Given the description of an element on the screen output the (x, y) to click on. 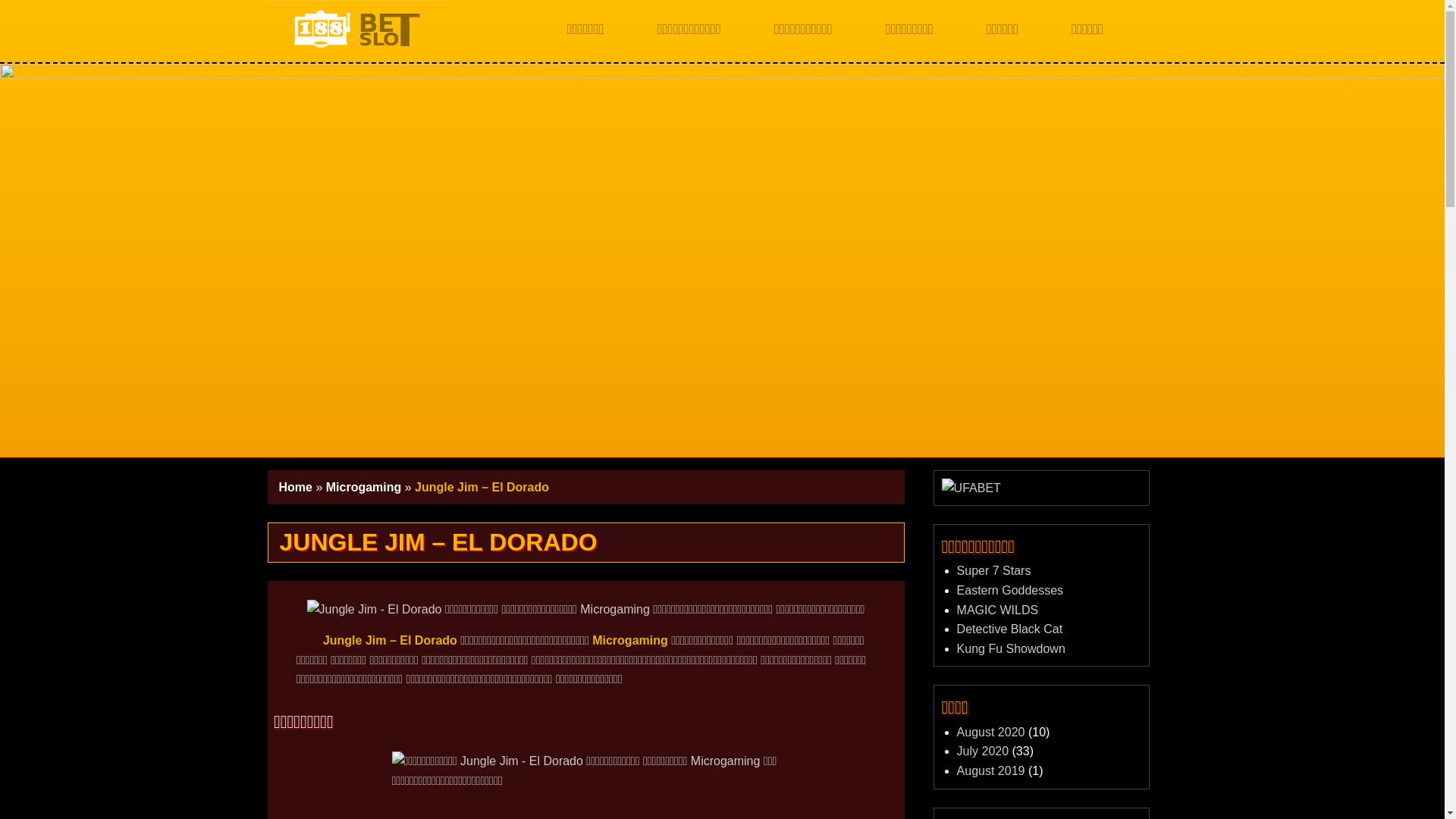
August 2019 Element type: text (991, 770)
Microgaming Element type: text (630, 639)
Home Element type: text (295, 486)
August 2020 Element type: text (991, 731)
MAGIC WILDS Element type: text (997, 609)
Super 7 Stars Element type: text (994, 570)
Eastern Goddesses Element type: text (1010, 589)
July 2020 Element type: text (983, 750)
Detective Black Cat Element type: text (1010, 628)
Microgaming Element type: text (363, 486)
Kung Fu Showdown Element type: text (1011, 648)
